Given the description of an element on the screen output the (x, y) to click on. 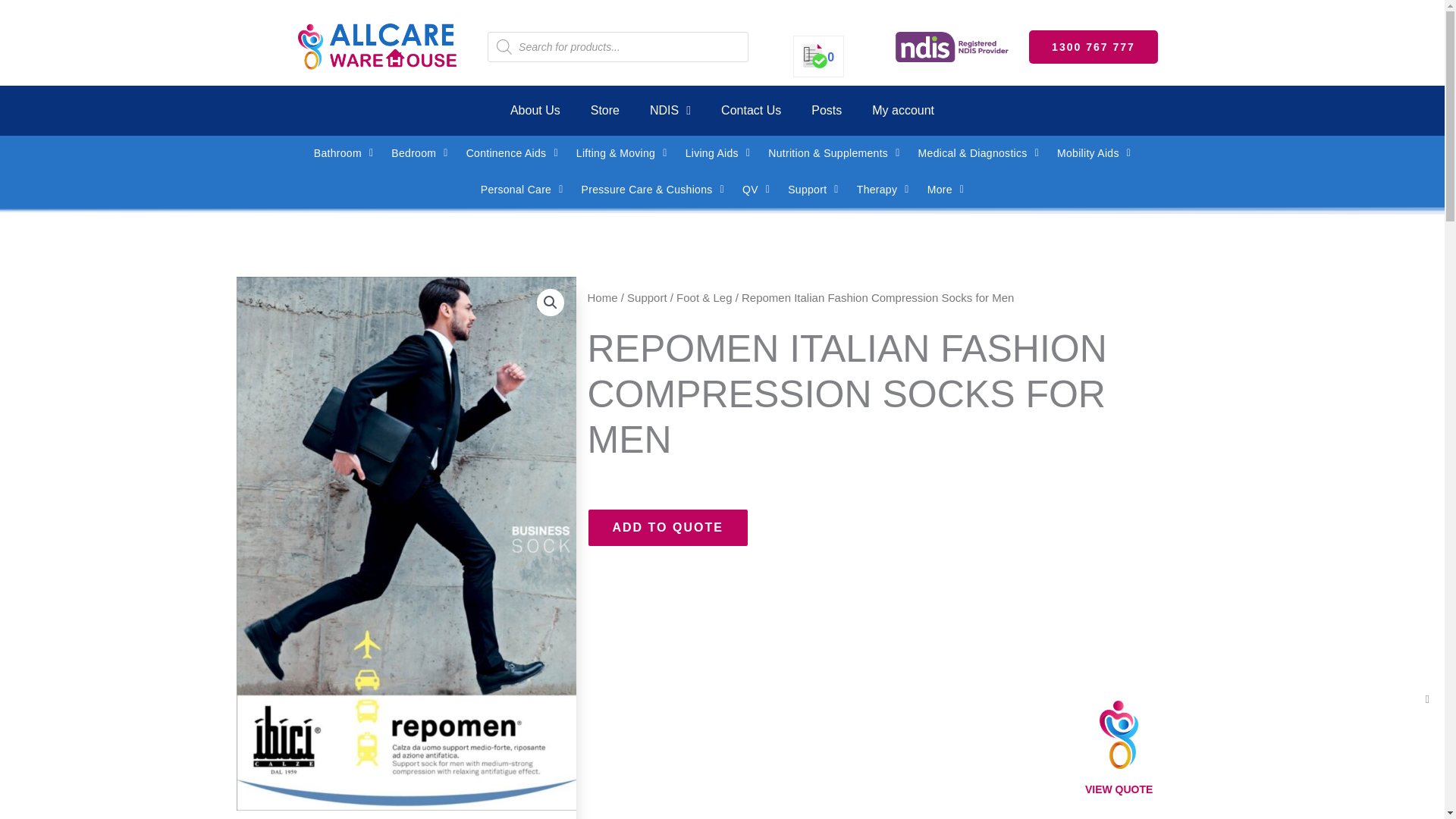
Bedroom (419, 153)
Store (604, 110)
Bathroom (343, 153)
0 (818, 56)
1300 767 777 (1093, 46)
Posts (826, 110)
Contact Us (751, 110)
About Us (535, 110)
My account (903, 110)
NDIS (670, 110)
